Given the description of an element on the screen output the (x, y) to click on. 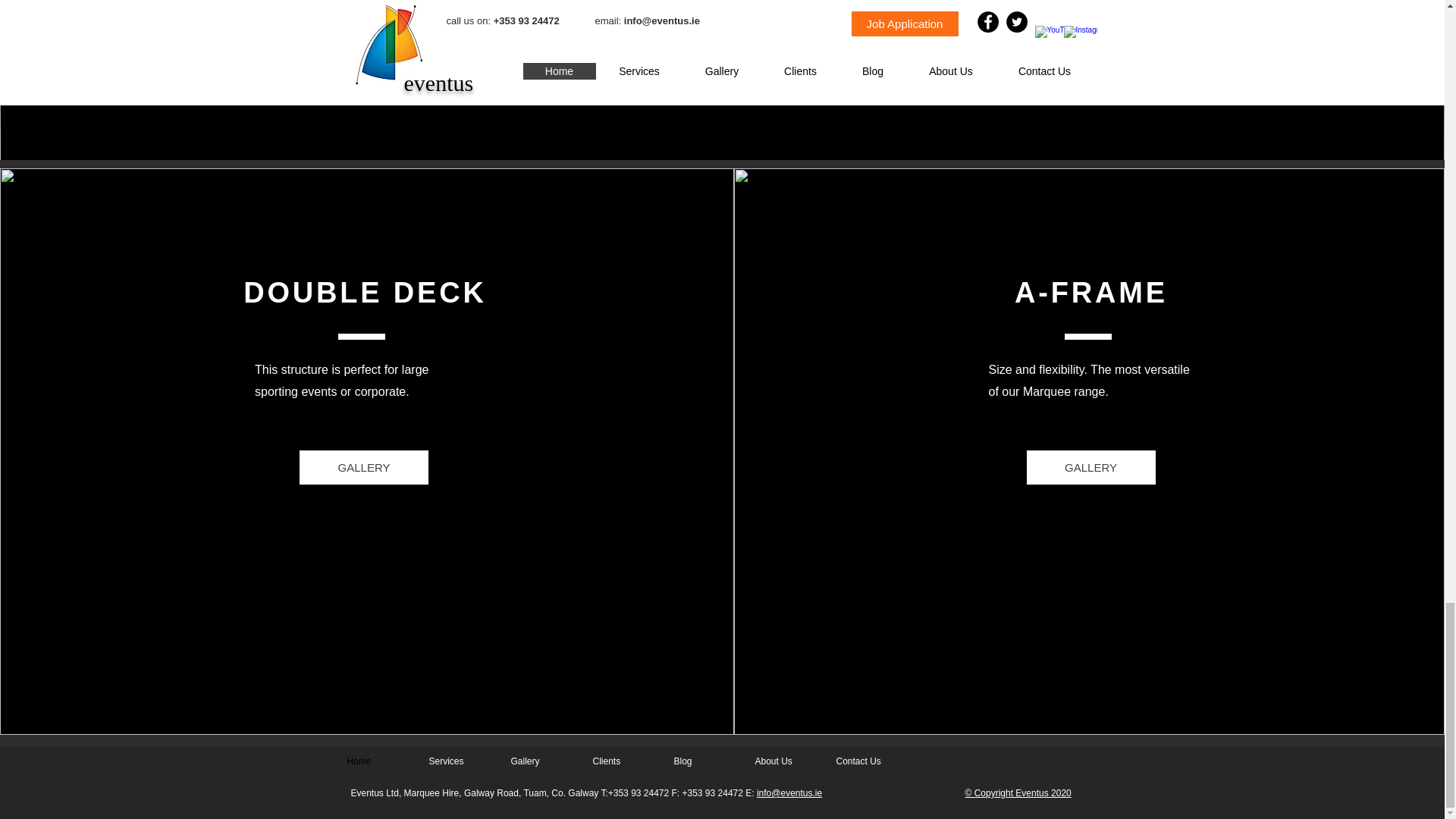
Services (457, 761)
Home (375, 761)
GALLERY (363, 467)
GALLERY (1091, 467)
